Given the description of an element on the screen output the (x, y) to click on. 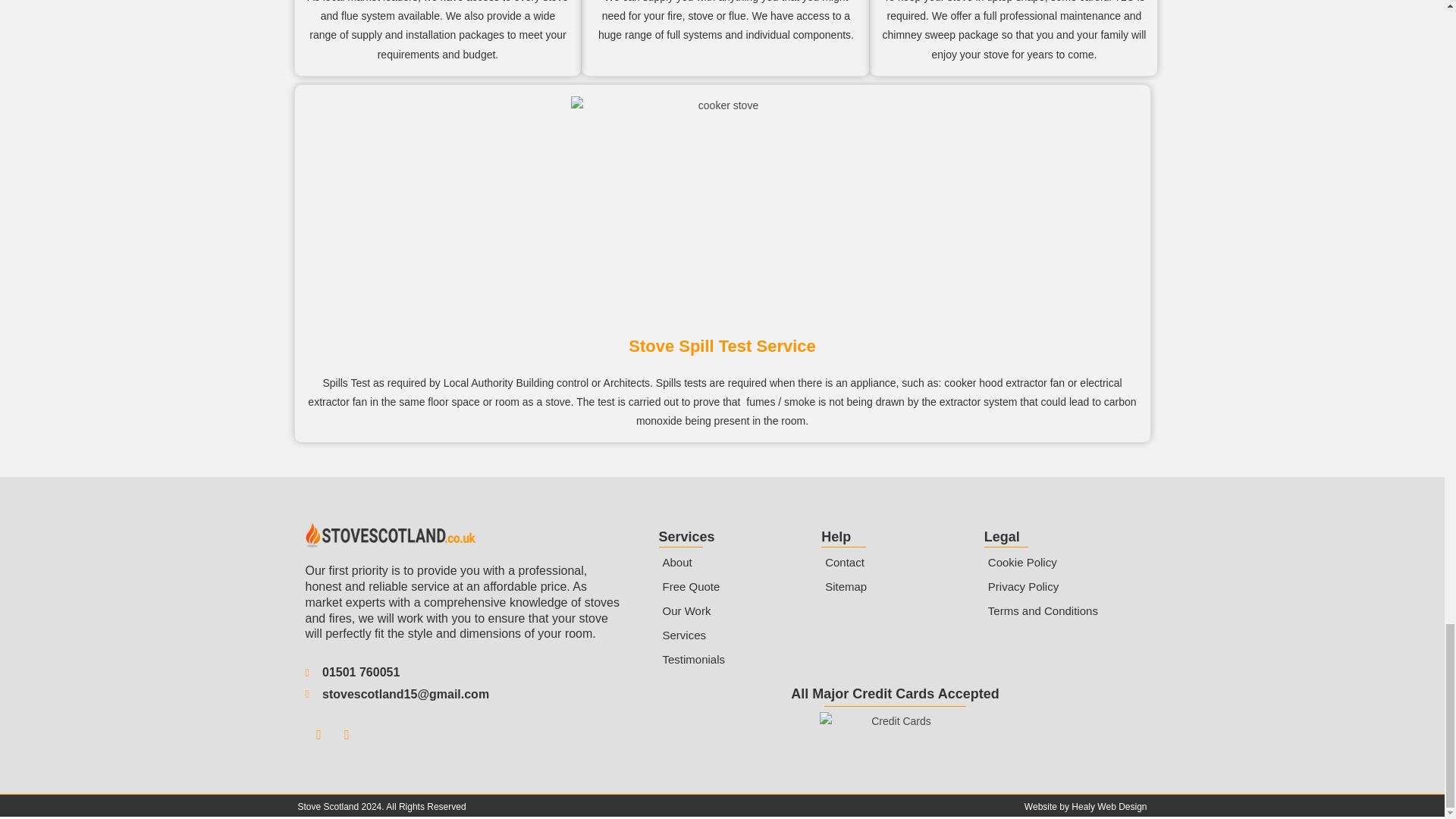
01501 760051 (462, 672)
Free Quote (732, 586)
About (732, 562)
